Given the description of an element on the screen output the (x, y) to click on. 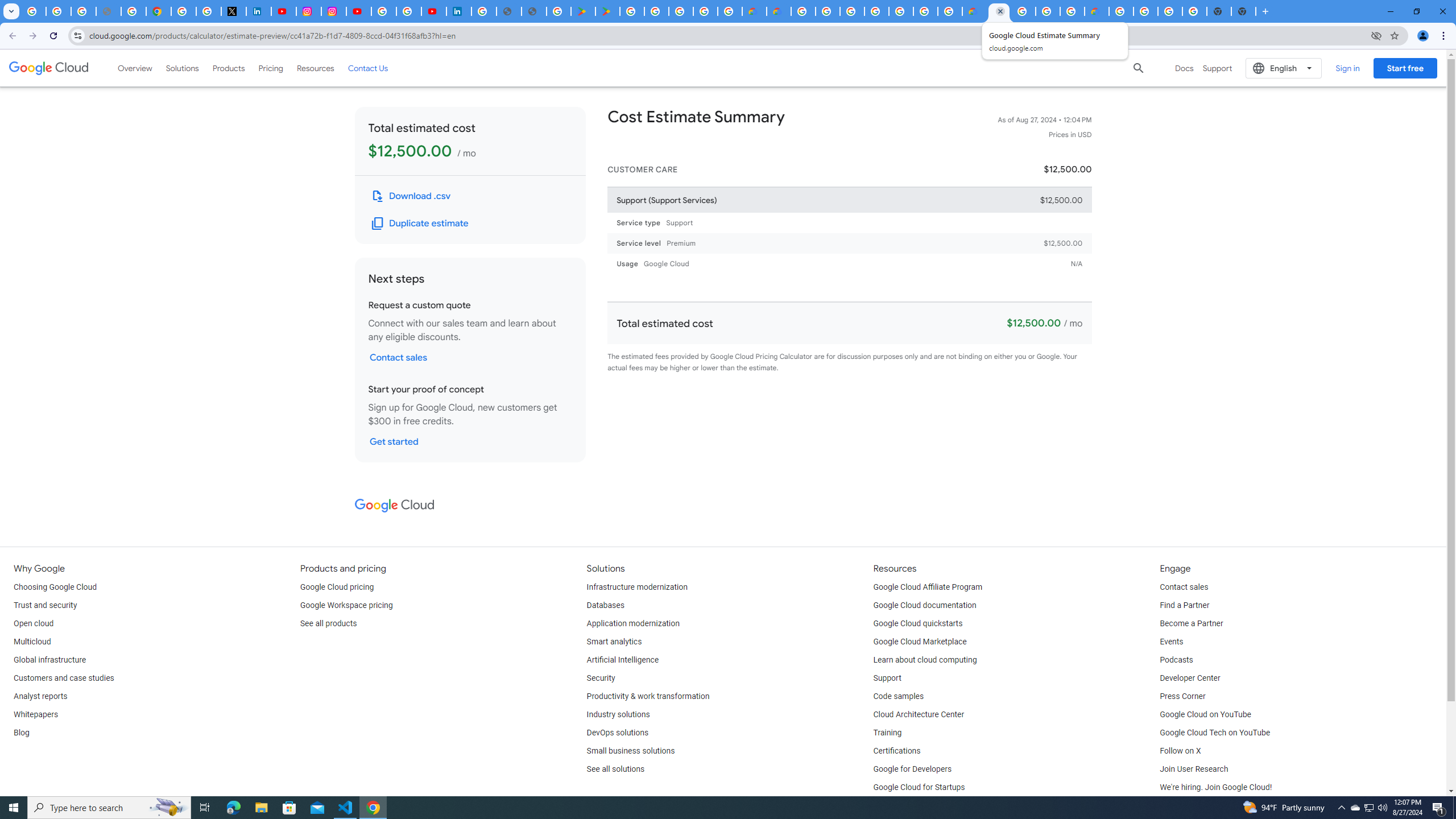
See all solutions (615, 769)
Google Cloud Platform (1145, 11)
LinkedIn Privacy Policy (258, 11)
Training (887, 732)
Google Workspace pricing (346, 605)
Pricing (270, 67)
